Given the description of an element on the screen output the (x, y) to click on. 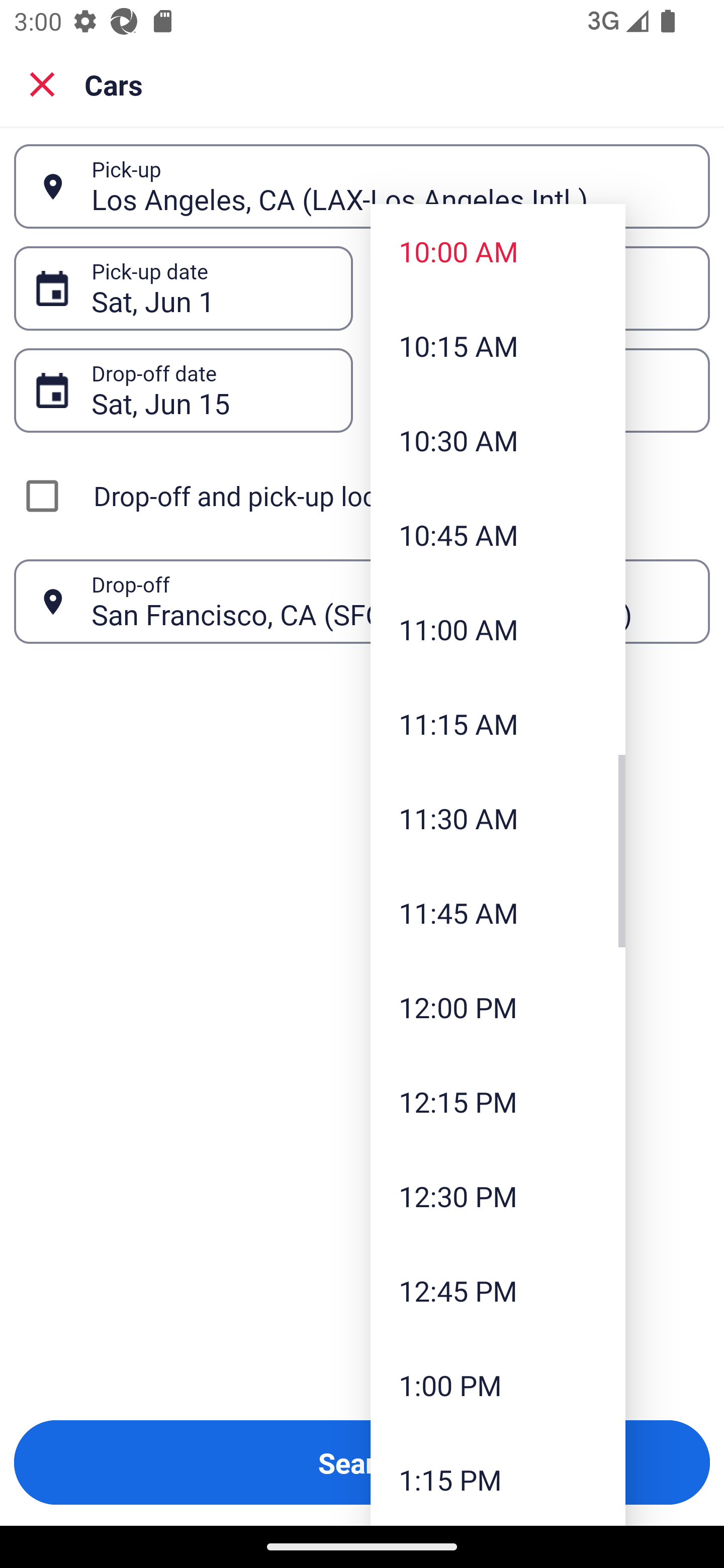
10:00 AM (497, 250)
10:15 AM (497, 345)
10:30 AM (497, 440)
10:45 AM (497, 534)
11:00 AM (497, 628)
11:15 AM (497, 723)
11:30 AM (497, 818)
11:45 AM (497, 912)
12:00 PM (497, 1006)
12:15 PM (497, 1101)
12:30 PM (497, 1196)
12:45 PM (497, 1290)
1:00 PM (497, 1384)
1:15 PM (497, 1478)
